Given the description of an element on the screen output the (x, y) to click on. 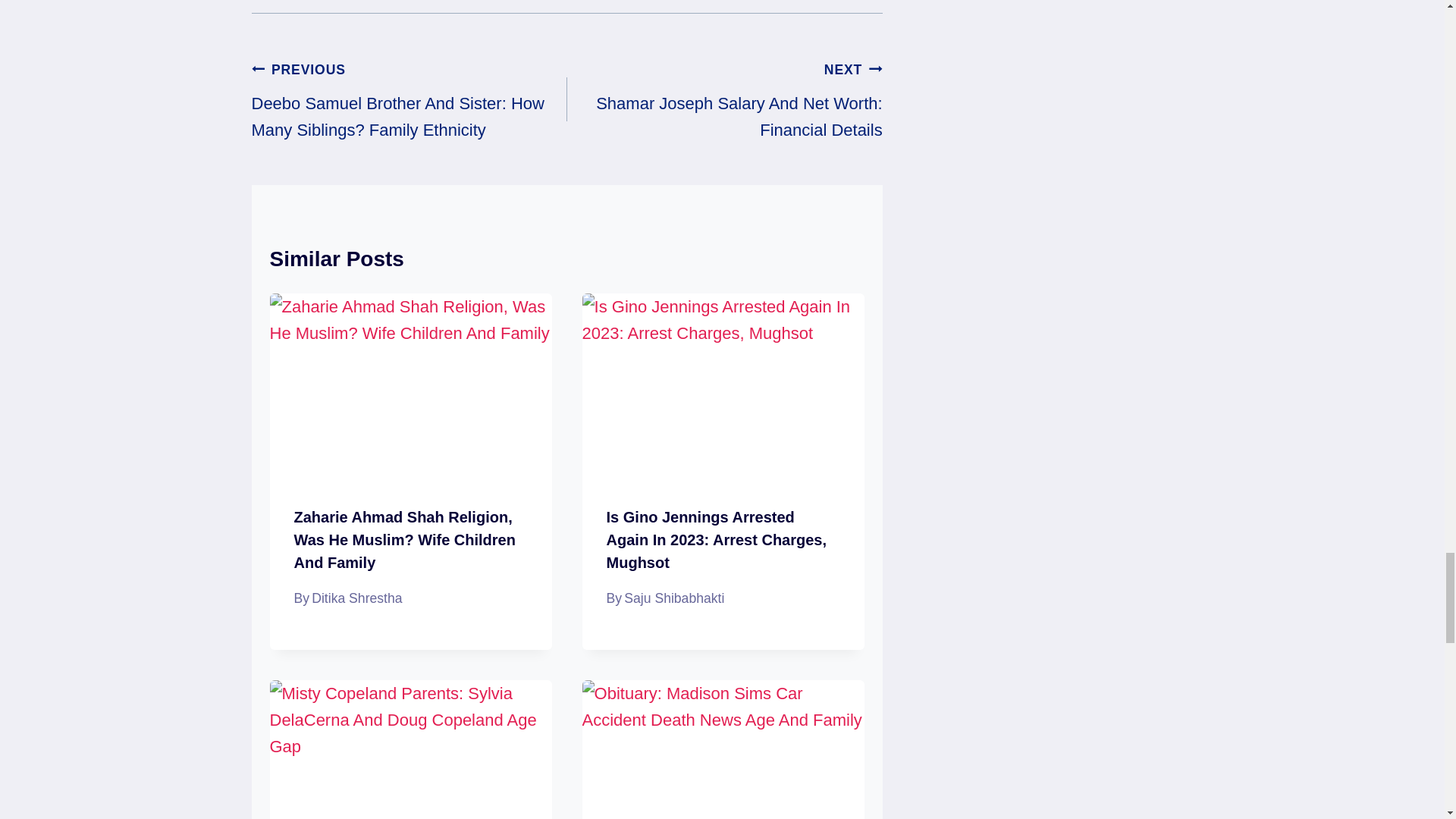
Ditika Shrestha (356, 598)
Saju Shibabhakti (673, 598)
